Given the description of an element on the screen output the (x, y) to click on. 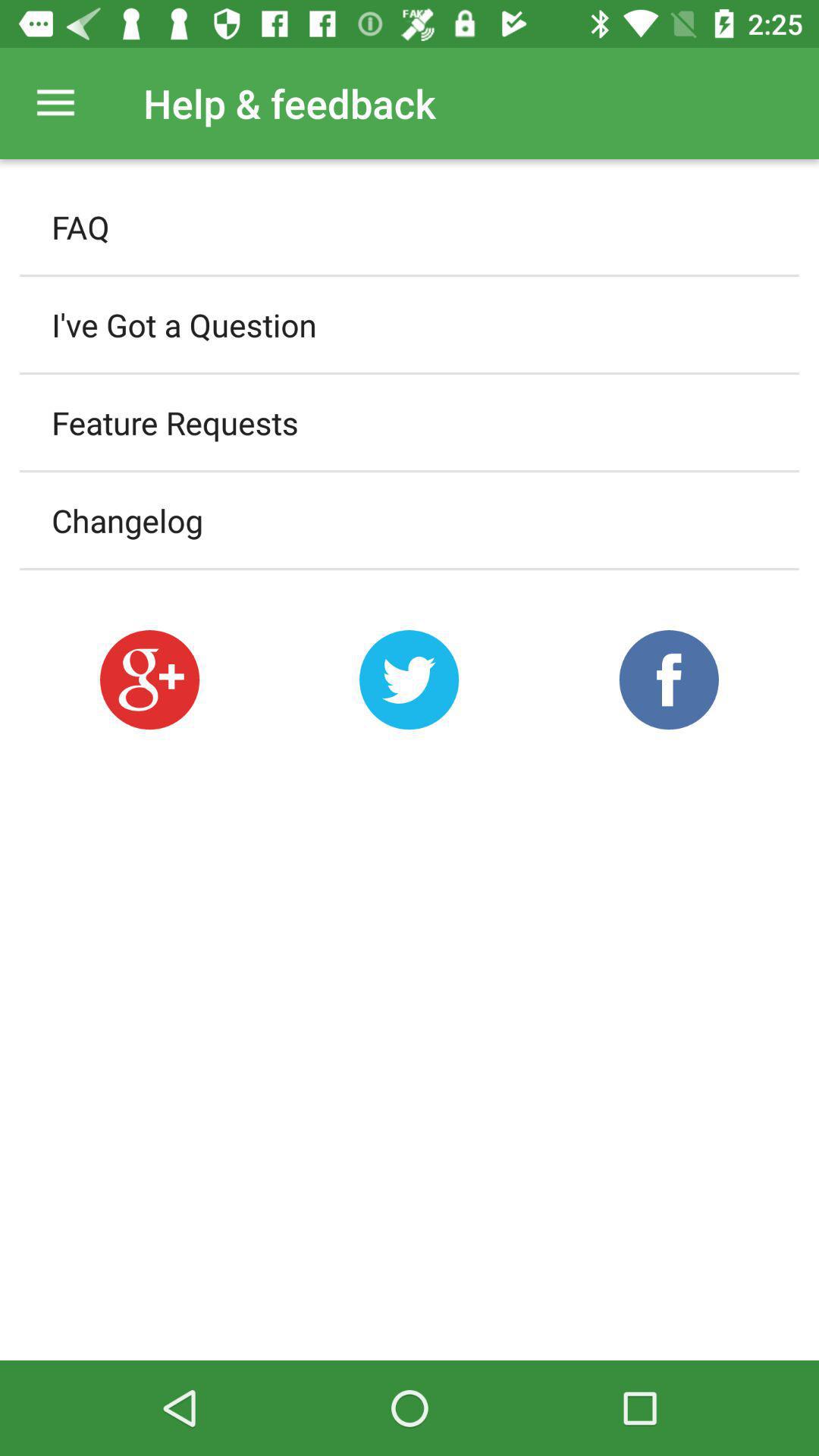
share on google plus (149, 679)
